Given the description of an element on the screen output the (x, y) to click on. 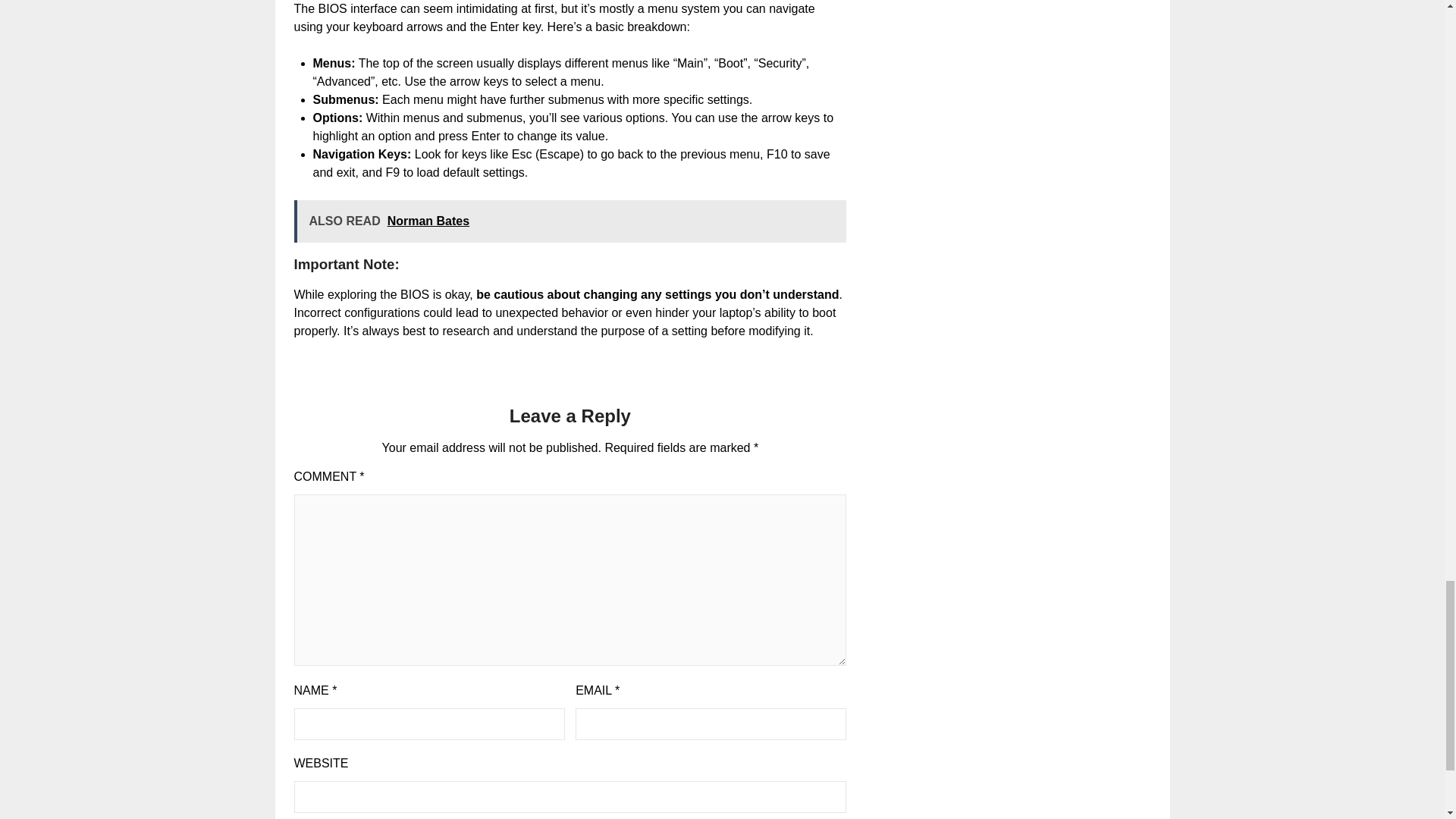
ALSO READ  Norman Bates (570, 220)
